Given the description of an element on the screen output the (x, y) to click on. 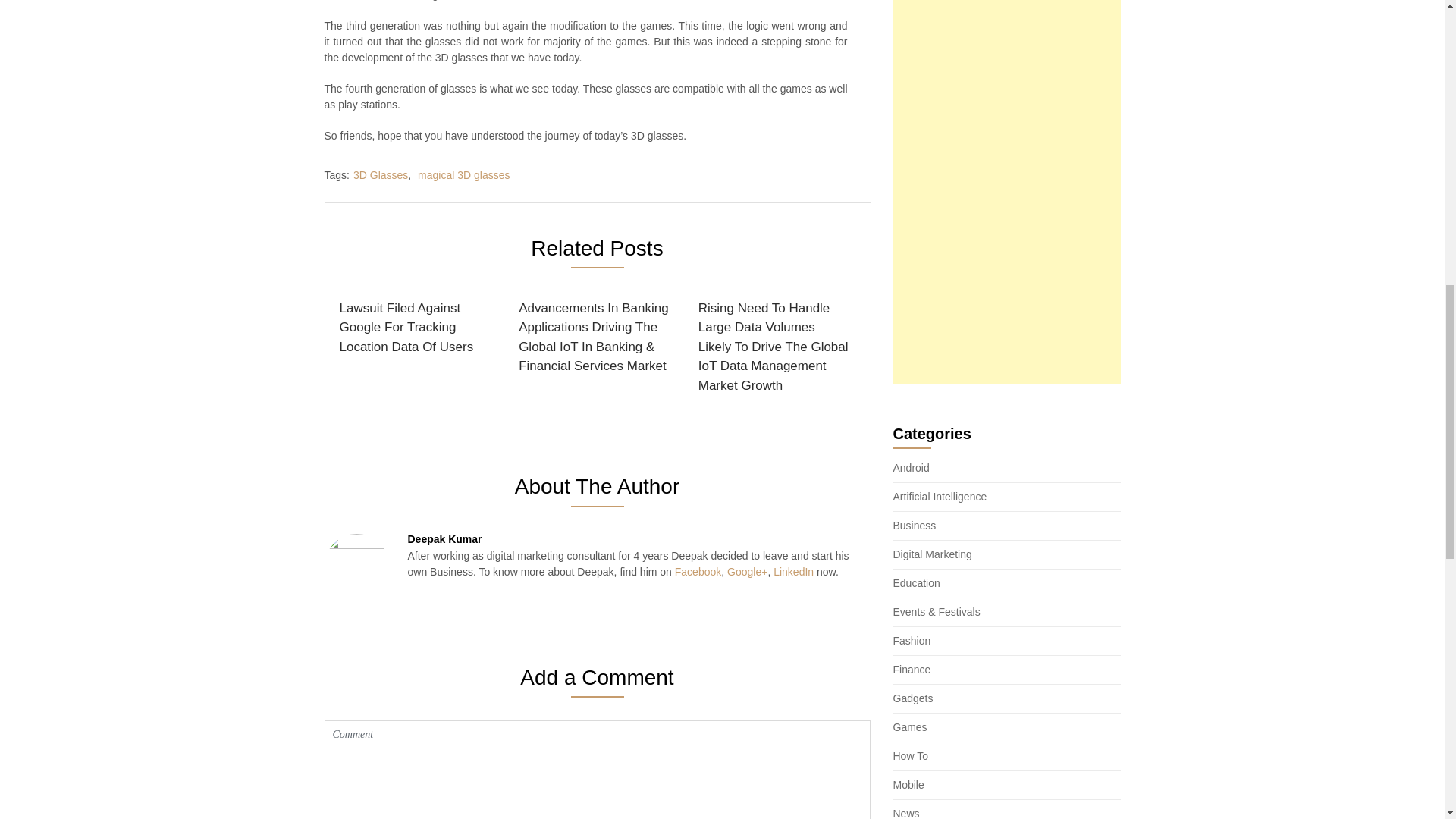
Artificial Intelligence (940, 496)
magical 3D glasses (463, 174)
Facebook (697, 571)
News (906, 813)
Gadgets (913, 698)
Fashion (912, 640)
Android (911, 467)
Finance (912, 669)
Digital Marketing (932, 553)
Games (910, 727)
How To (910, 756)
